Given the description of an element on the screen output the (x, y) to click on. 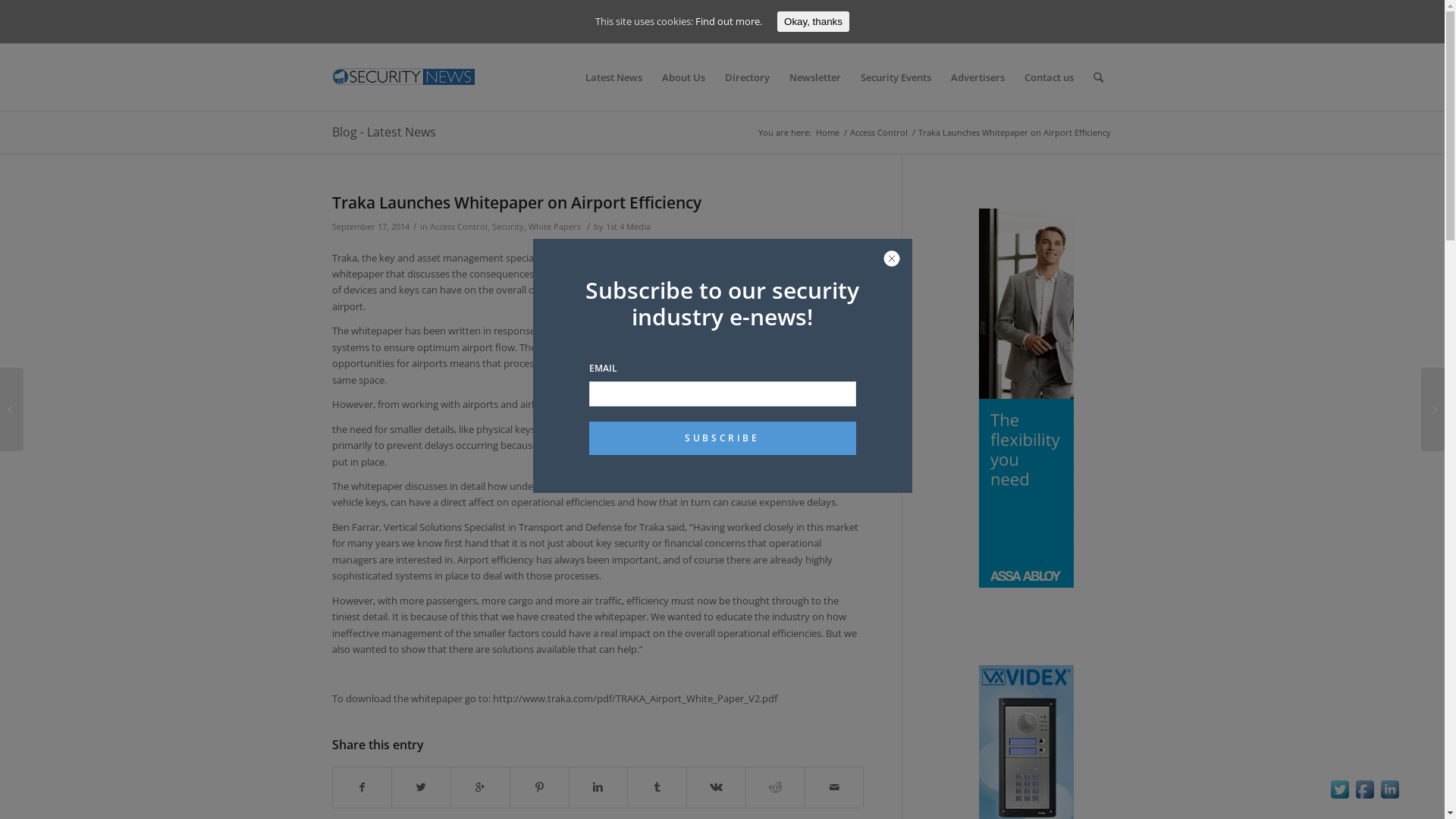
Access Control Element type: text (457, 226)
Visit Us On Linkedin Element type: hover (1389, 797)
Advertisers Element type: text (976, 76)
Newsletter Element type: text (814, 76)
About Us Element type: text (683, 76)
Home Element type: text (826, 132)
Access Control Element type: text (878, 132)
Subscribe Element type: text (721, 438)
Security Element type: text (507, 226)
Visit Us On Facebook Element type: hover (1364, 797)
Directory Element type: text (746, 76)
1st 4 Media Element type: text (627, 226)
Visit Us On Twitter Element type: hover (1339, 797)
White Papers Element type: text (553, 226)
Okay, thanks Element type: text (813, 21)
Contact us Element type: text (1048, 76)
Find out more. Element type: text (728, 21)
Latest News Element type: text (612, 76)
Blog - Latest News Element type: text (384, 131)
Traka Launches Whitepaper on Airport Efficiency Element type: text (516, 202)
Security Events Element type: text (895, 76)
Close Element type: hover (891, 259)
